Given the description of an element on the screen output the (x, y) to click on. 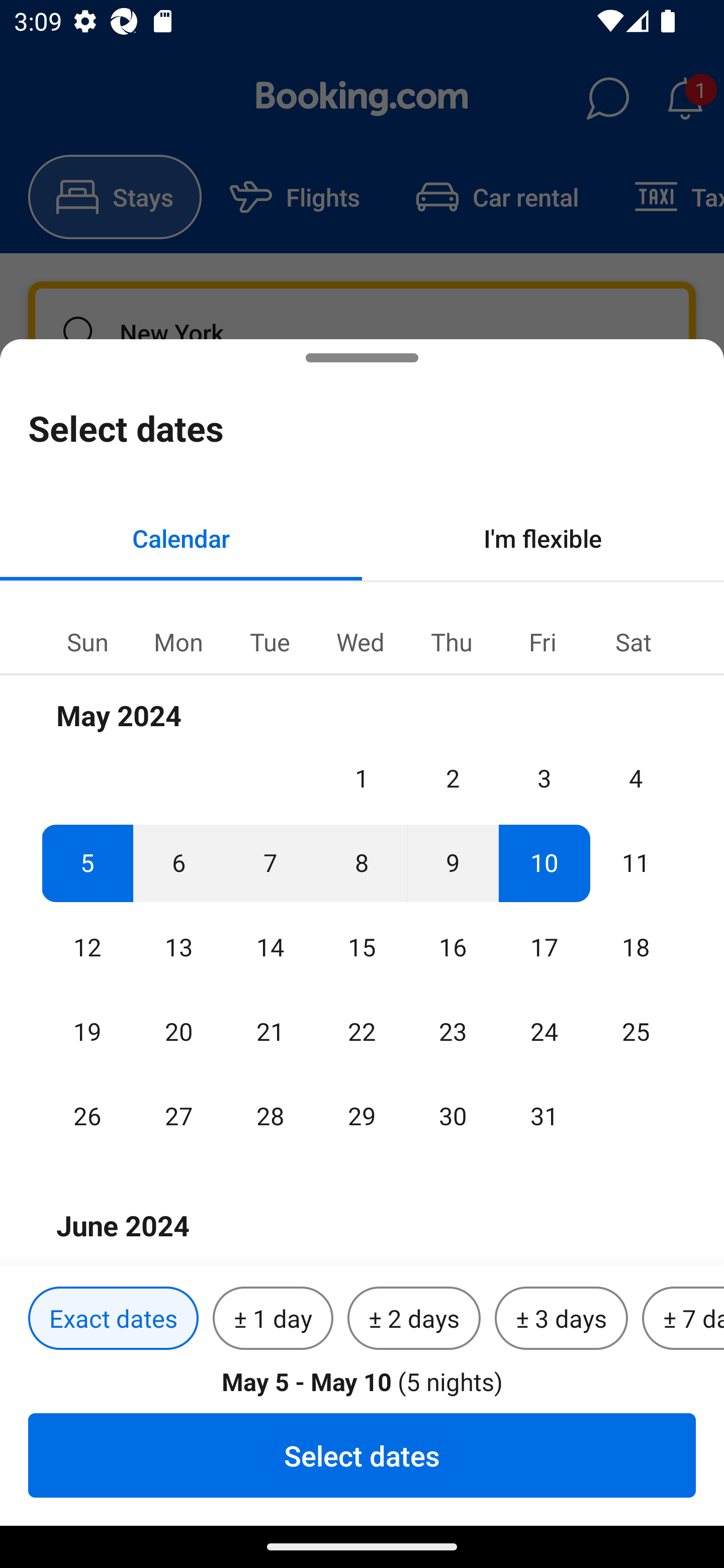
I'm flexible (543, 537)
Exact dates (113, 1318)
± 1 day (272, 1318)
± 2 days (413, 1318)
± 3 days (560, 1318)
± 7 days (683, 1318)
Select dates (361, 1454)
